Given the description of an element on the screen output the (x, y) to click on. 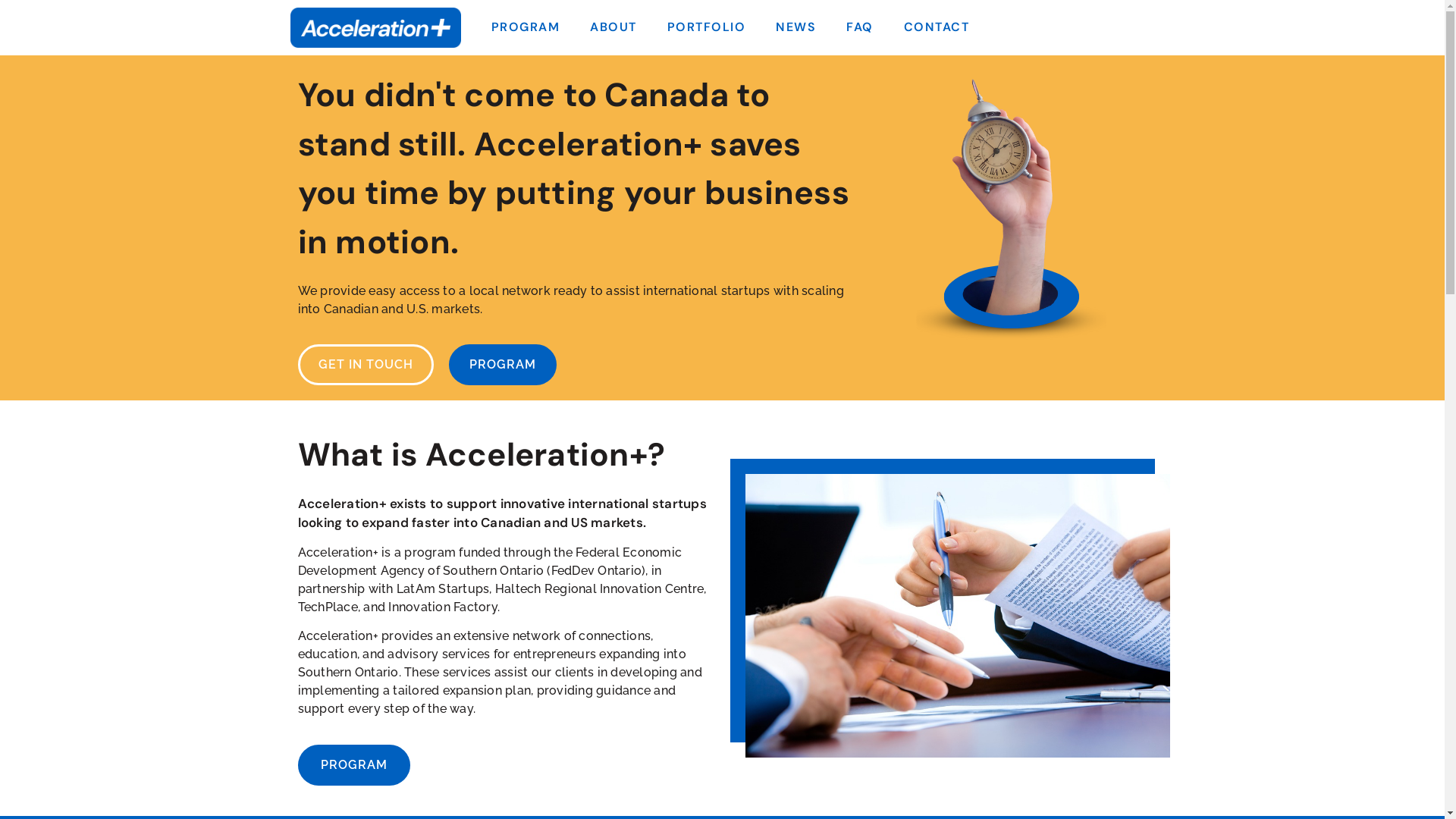
CONTACT Element type: text (936, 26)
PROGRAM Element type: text (502, 364)
PROGRAM Element type: text (525, 26)
ABOUT Element type: text (613, 26)
PROGRAM Element type: text (353, 764)
FAQ Element type: text (859, 26)
PORTFOLIO Element type: text (706, 26)
NEWS Element type: text (795, 26)
GET IN TOUCH Element type: text (365, 364)
